Given the description of an element on the screen output the (x, y) to click on. 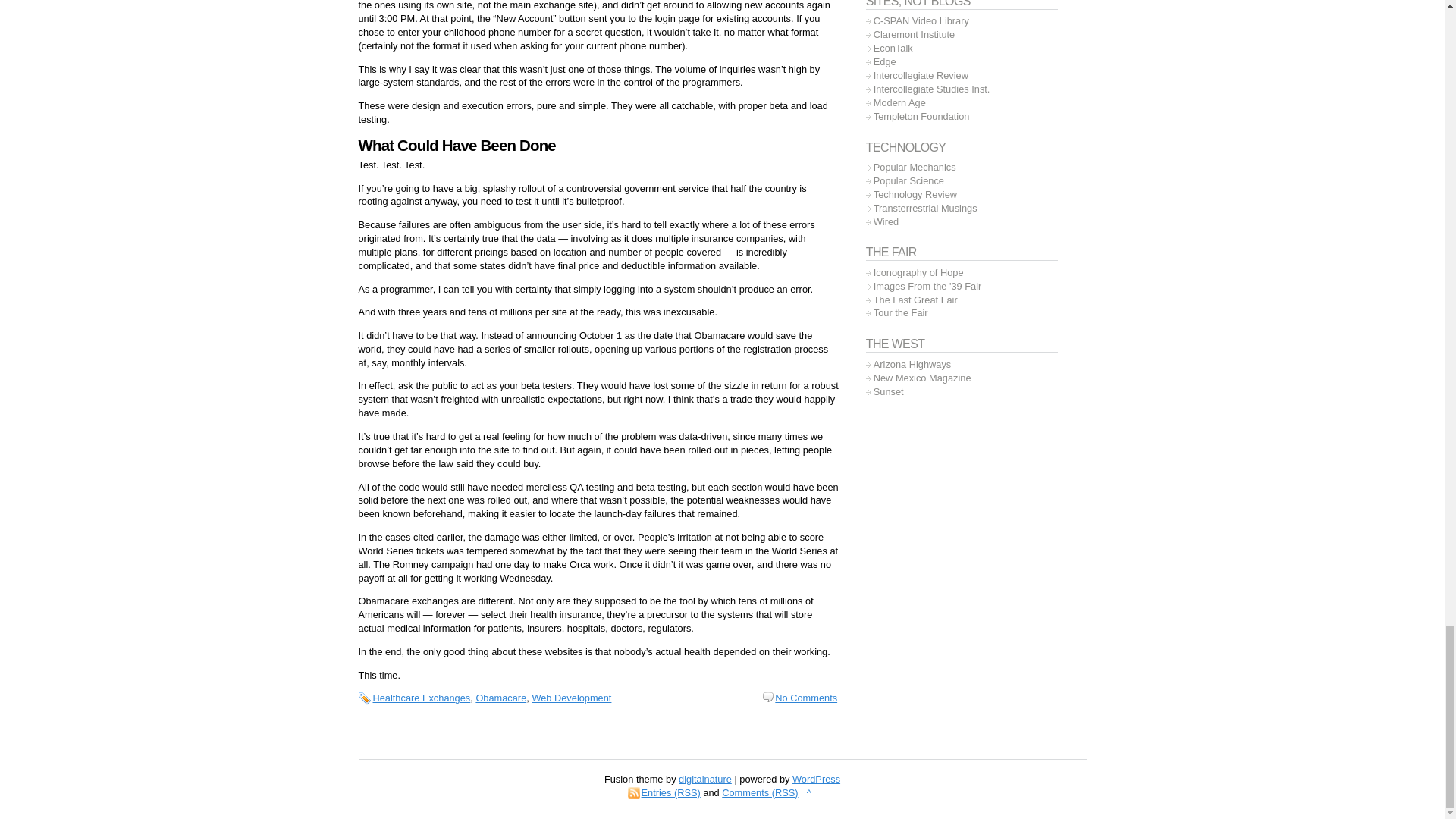
Web Development (571, 697)
Obamacare (500, 697)
No Comments (799, 697)
Healthcare Exchanges (421, 697)
